Given the description of an element on the screen output the (x, y) to click on. 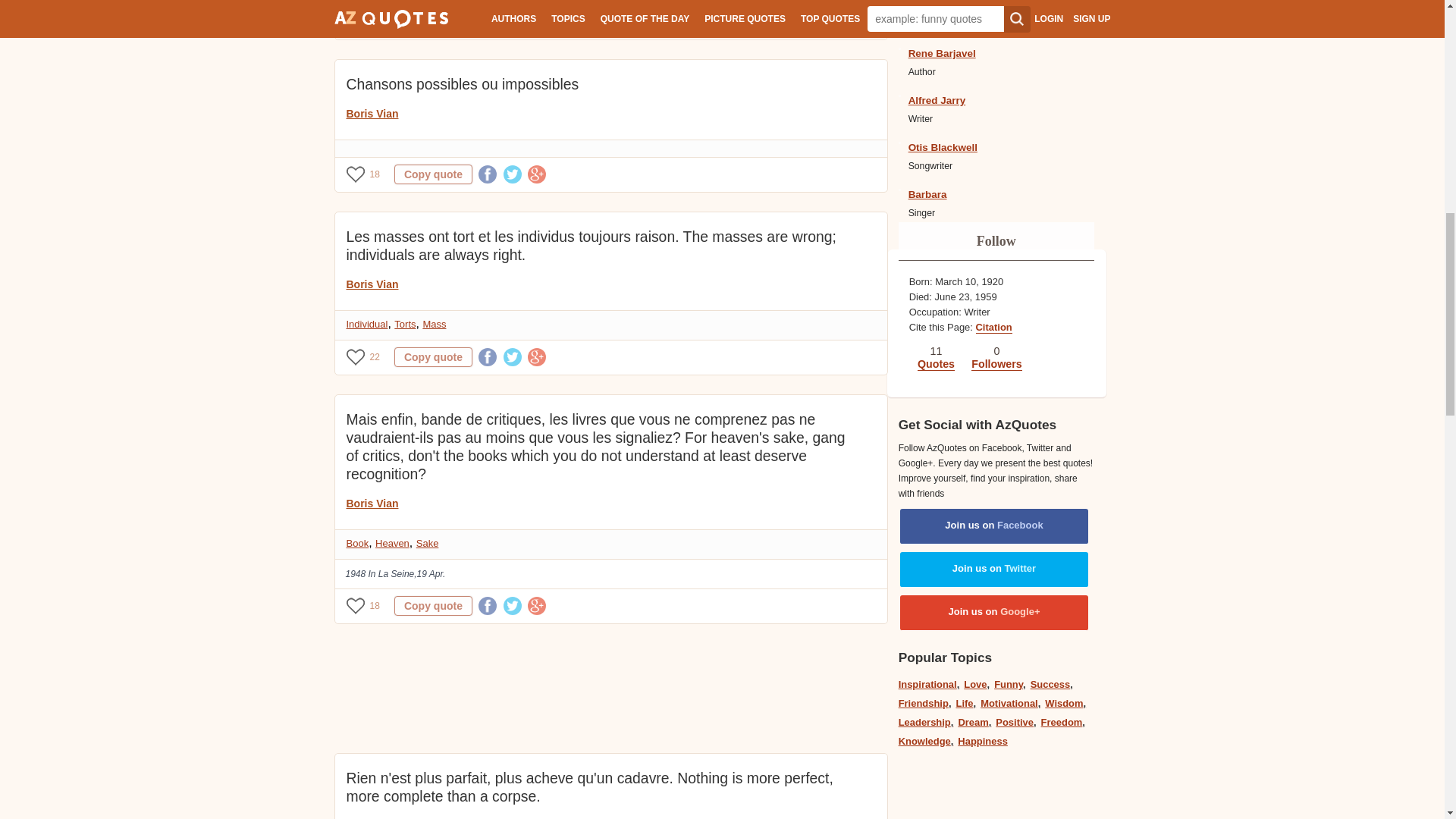
Quote is copied (432, 174)
Quote is copied (432, 21)
Quote is copied (432, 356)
Quote is copied (432, 605)
